Given the description of an element on the screen output the (x, y) to click on. 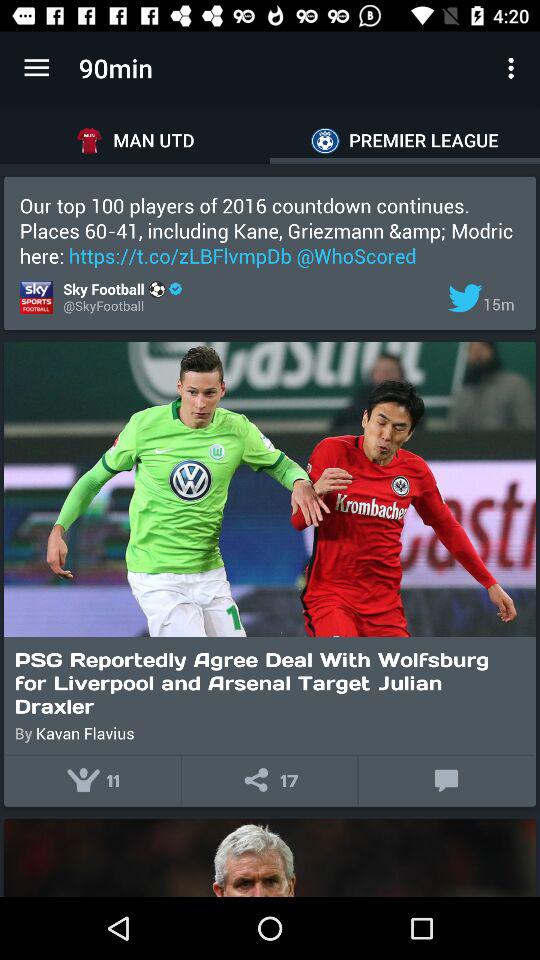
press icon below the man utd (269, 230)
